Given the description of an element on the screen output the (x, y) to click on. 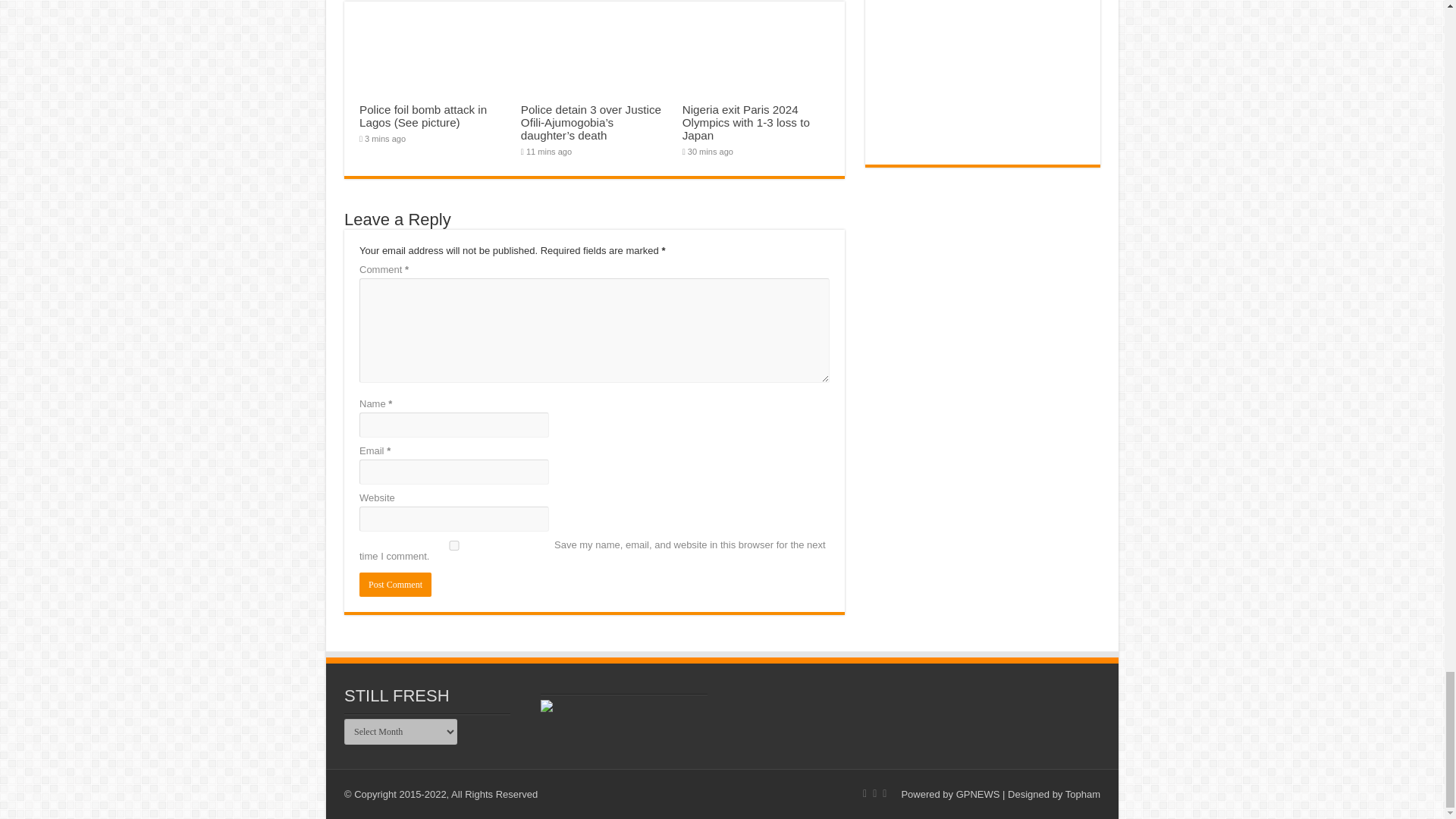
yes (453, 545)
Post Comment (394, 584)
